Given the description of an element on the screen output the (x, y) to click on. 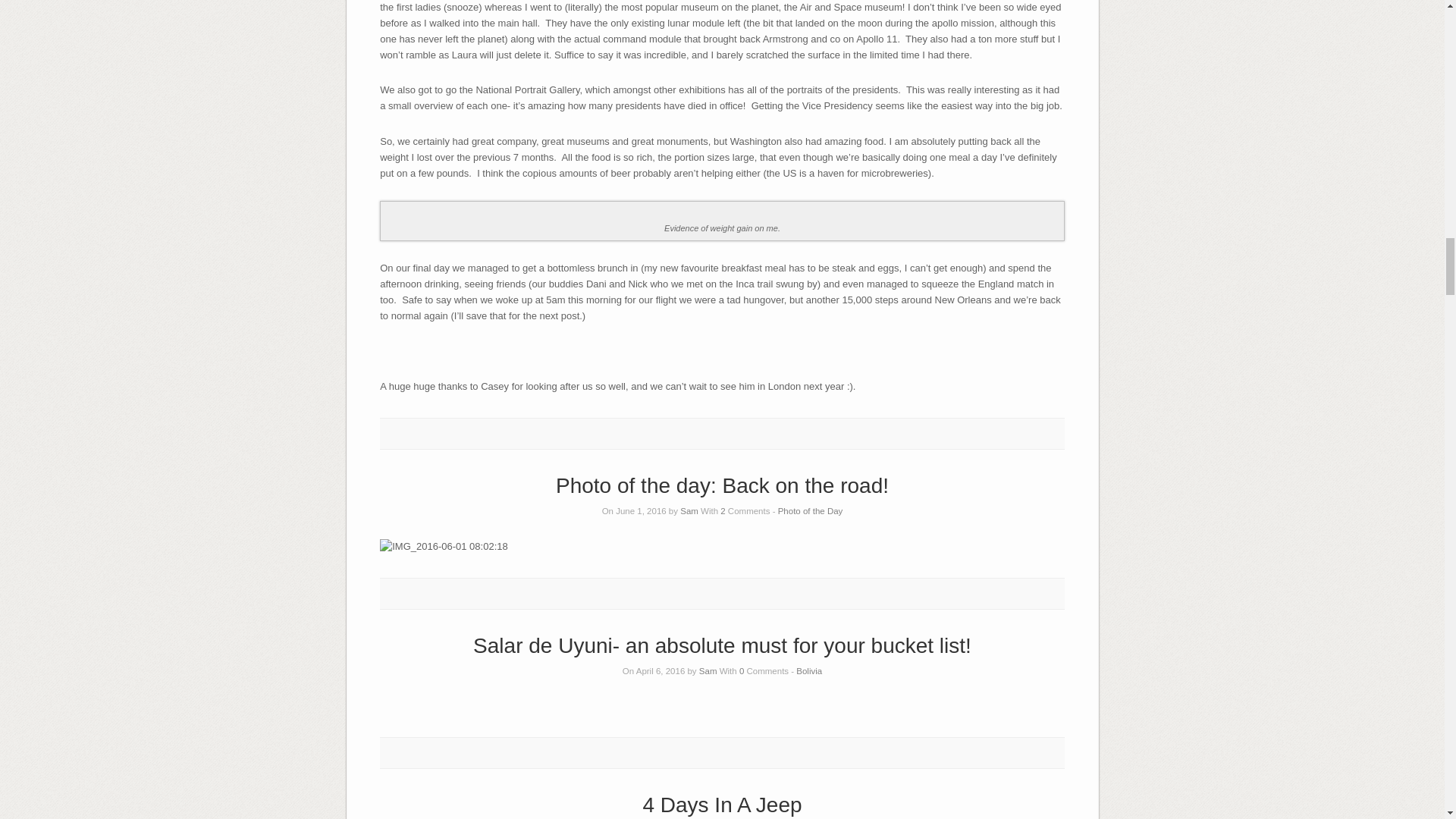
Photo of the Day (810, 510)
Photo of the day: Back on the road! (722, 485)
Salar de Uyuni- an absolute must for your bucket list! (722, 645)
Bolivia (809, 670)
Sam (688, 510)
Sam (707, 670)
